Given the description of an element on the screen output the (x, y) to click on. 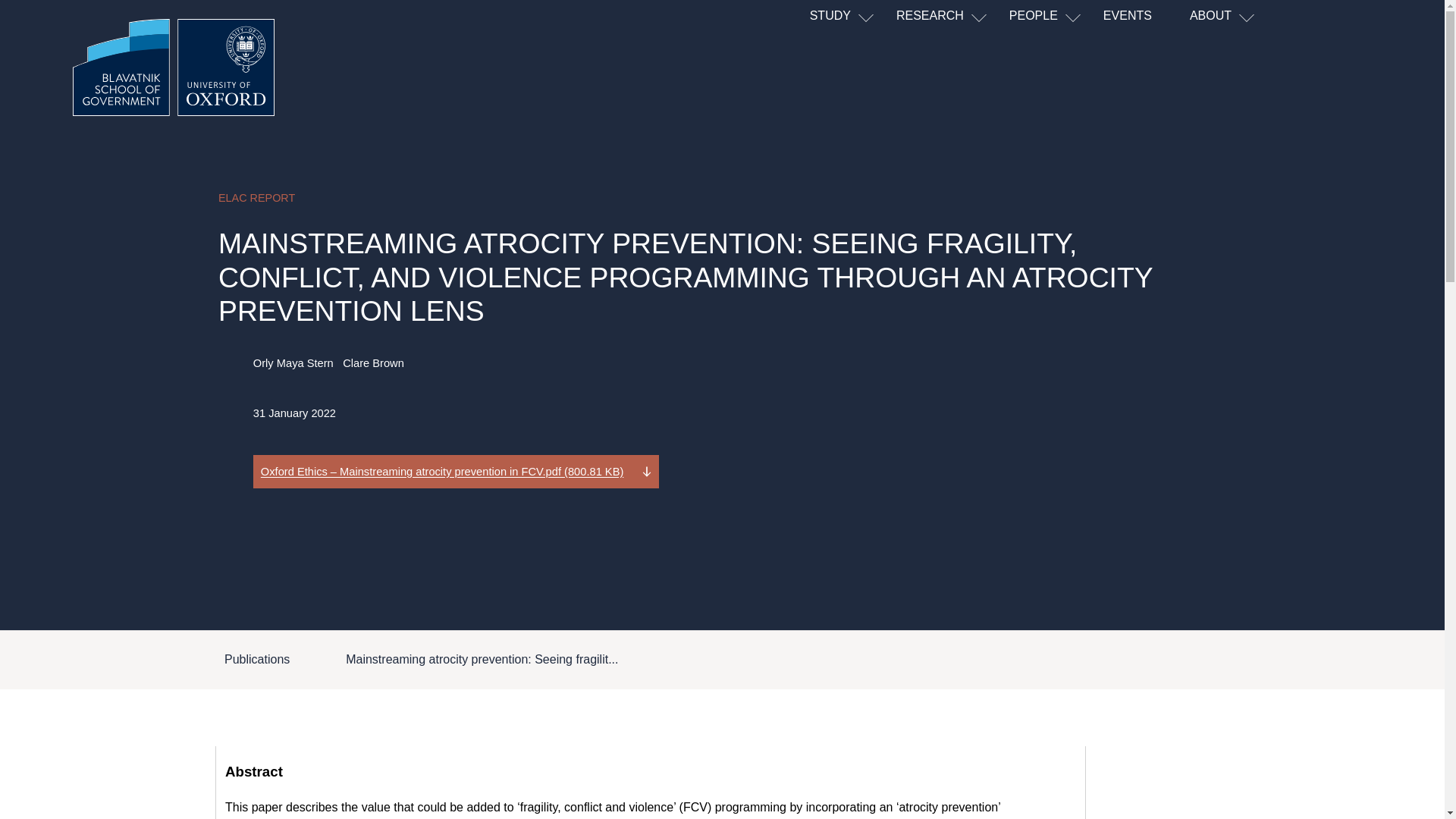
EVENTS (1146, 16)
Search (1241, 77)
Mainstreaming atrocity prevention: Seeing fragilit... (481, 658)
Publications (256, 658)
